Given the description of an element on the screen output the (x, y) to click on. 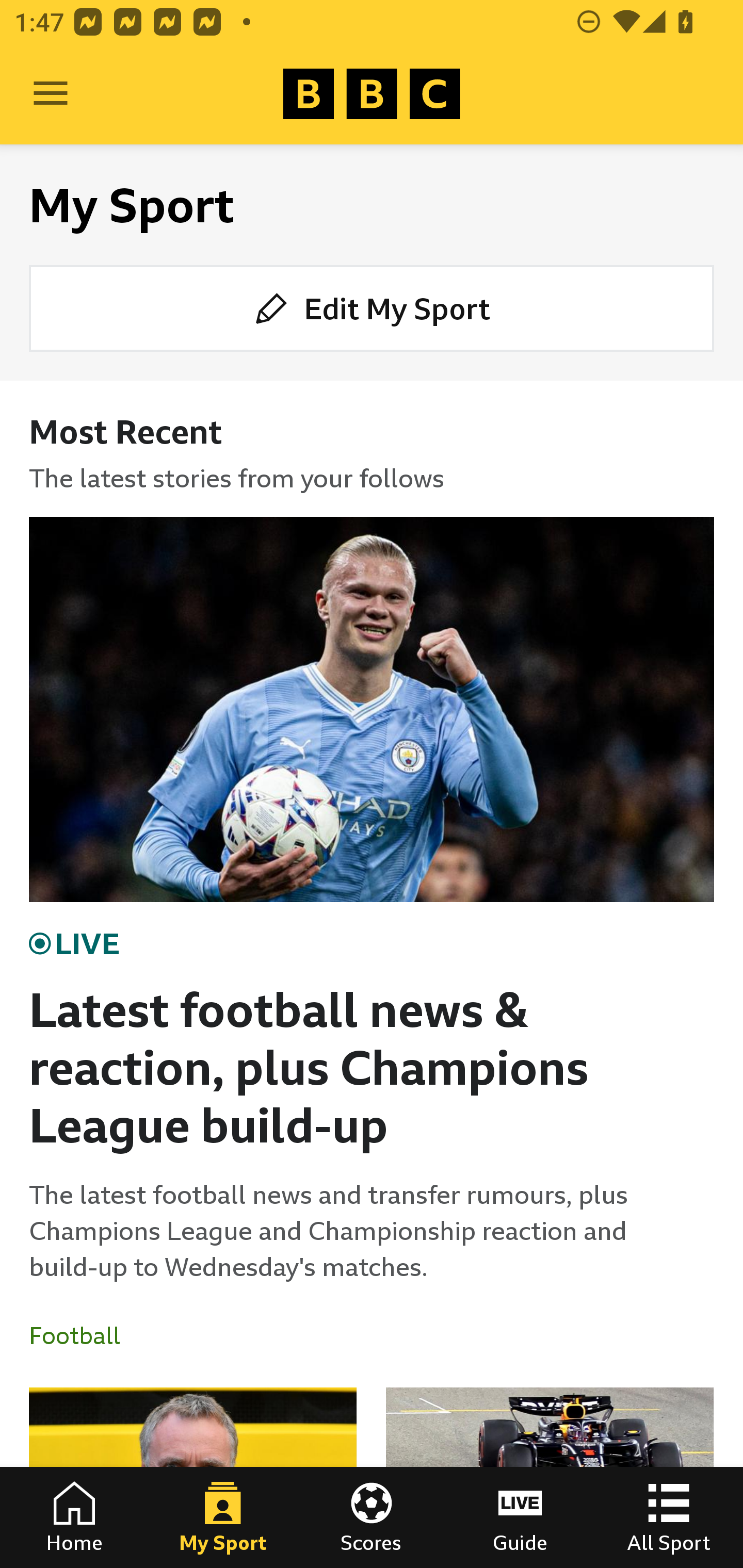
Open Menu (50, 93)
Edit My Sport (371, 307)
Home (74, 1517)
Scores (371, 1517)
Guide (519, 1517)
All Sport (668, 1517)
